Given the description of an element on the screen output the (x, y) to click on. 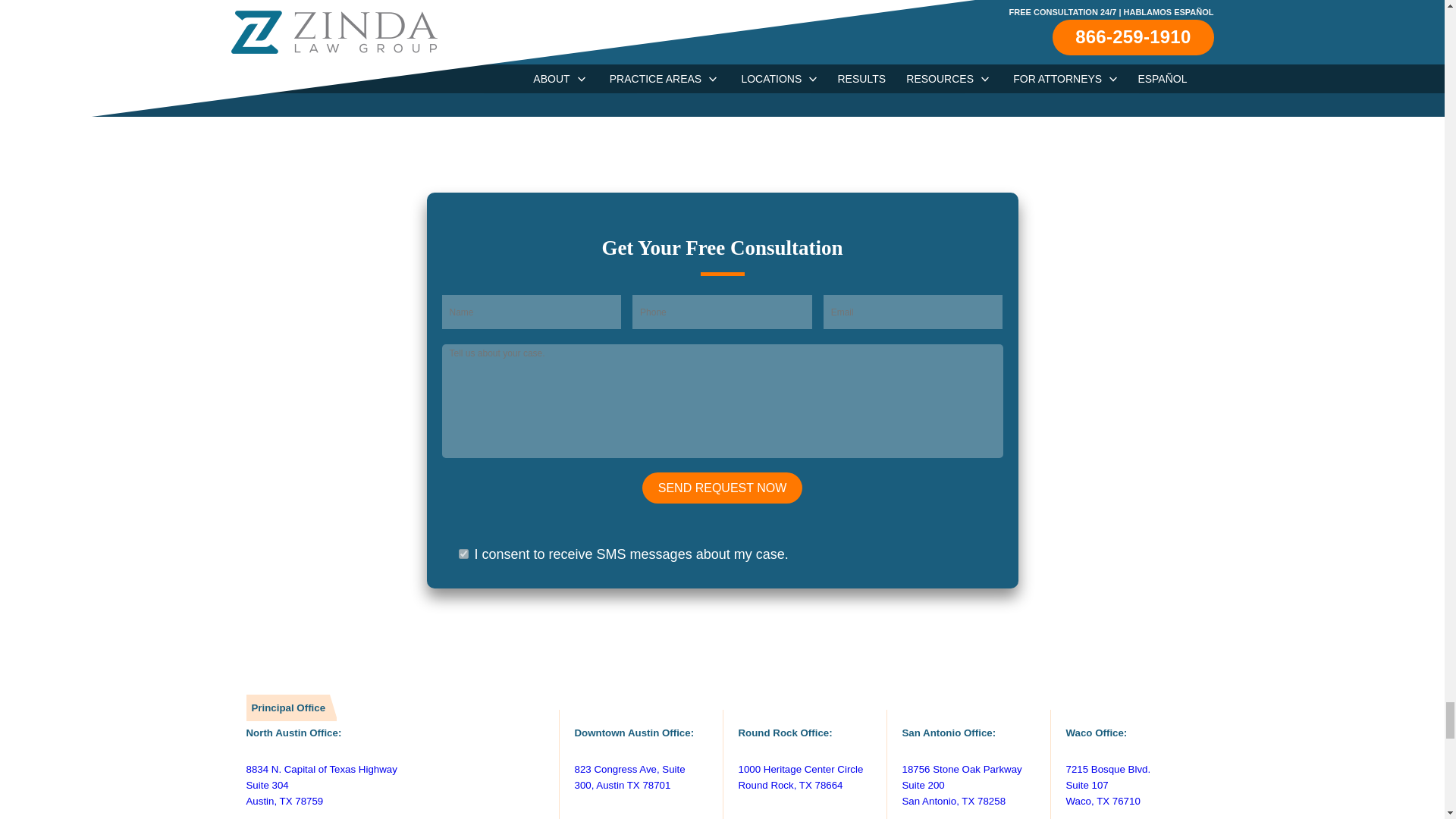
Send Request Now (722, 487)
1 (462, 553)
